Given the description of an element on the screen output the (x, y) to click on. 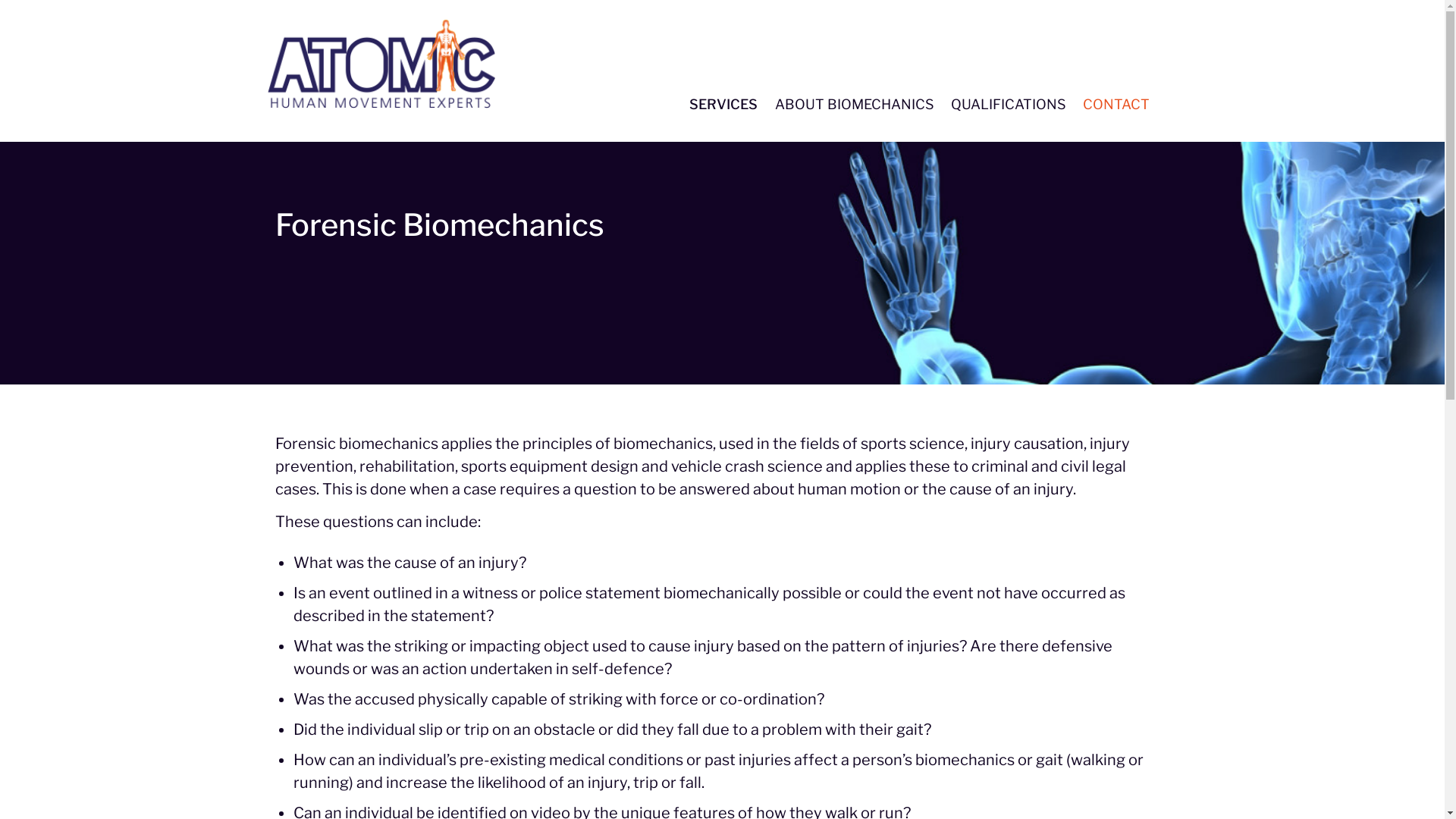
QUALIFICATIONS Element type: text (1008, 102)
CONTACT Element type: text (1115, 102)
ABOUT BIOMECHANICS Element type: text (853, 102)
